Given the description of an element on the screen output the (x, y) to click on. 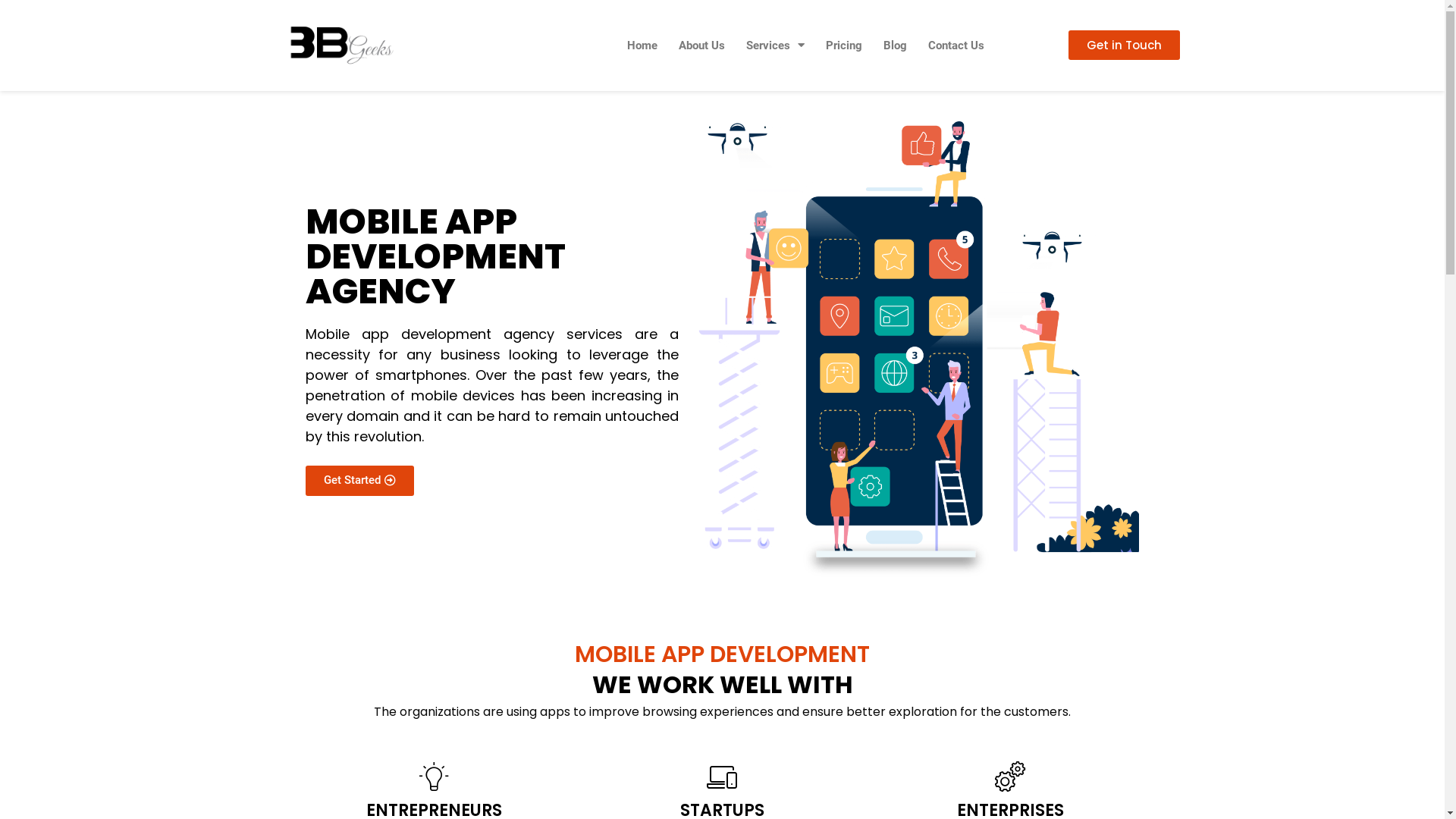
Contact Us Element type: text (955, 45)
Blog Element type: text (894, 45)
About Us Element type: text (701, 45)
Pricing Element type: text (843, 45)
Services Element type: text (775, 45)
Home Element type: text (642, 45)
Get Started Element type: text (358, 480)
Get in Touch Element type: text (1123, 44)
